Given the description of an element on the screen output the (x, y) to click on. 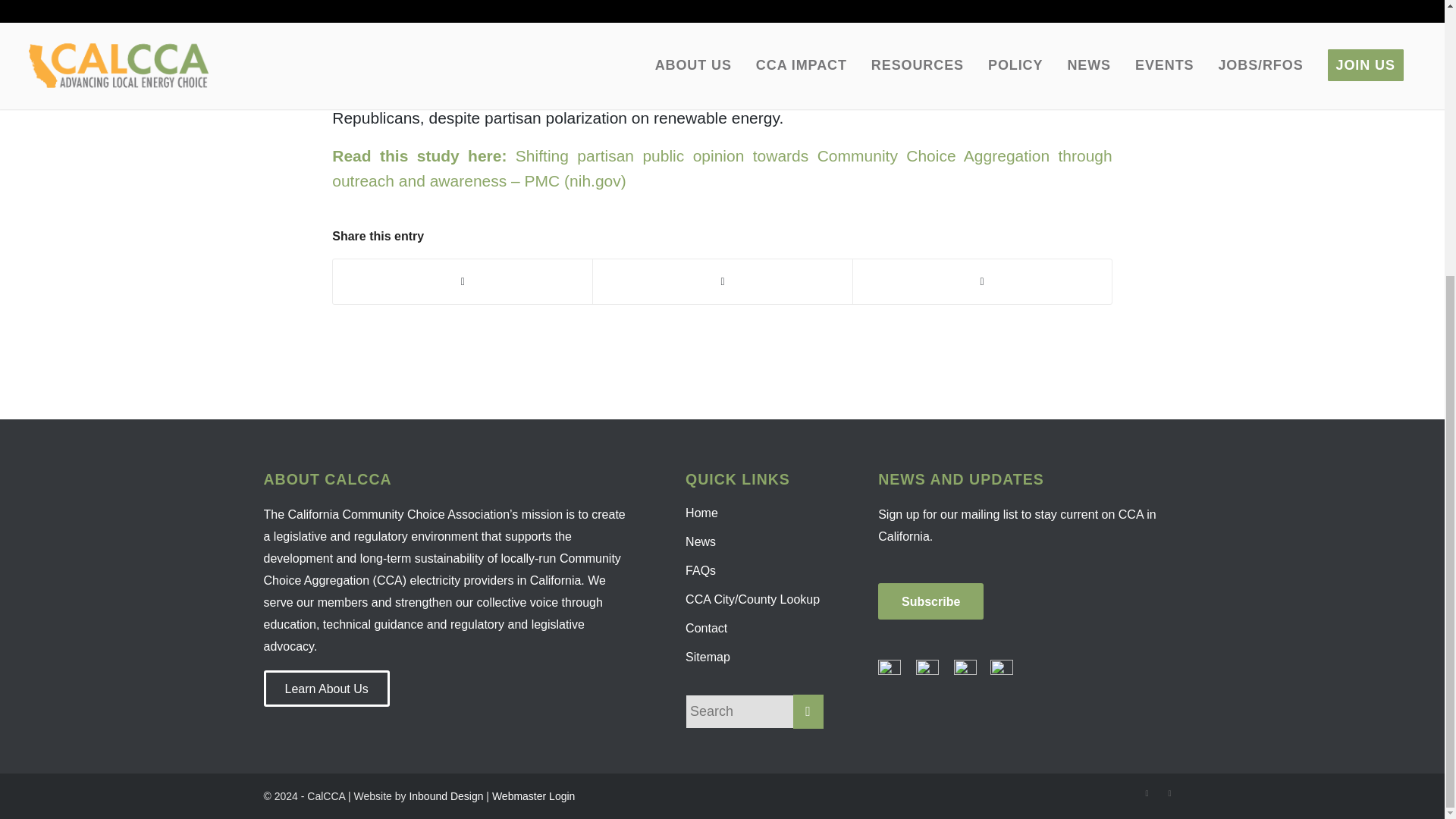
Learn About Us (326, 688)
LinkedIn (1169, 793)
Twitter (1146, 793)
Home (754, 512)
Contact (754, 628)
News (754, 541)
FAQs (754, 570)
Sitemap (754, 656)
Subscribe (930, 601)
